Given the description of an element on the screen output the (x, y) to click on. 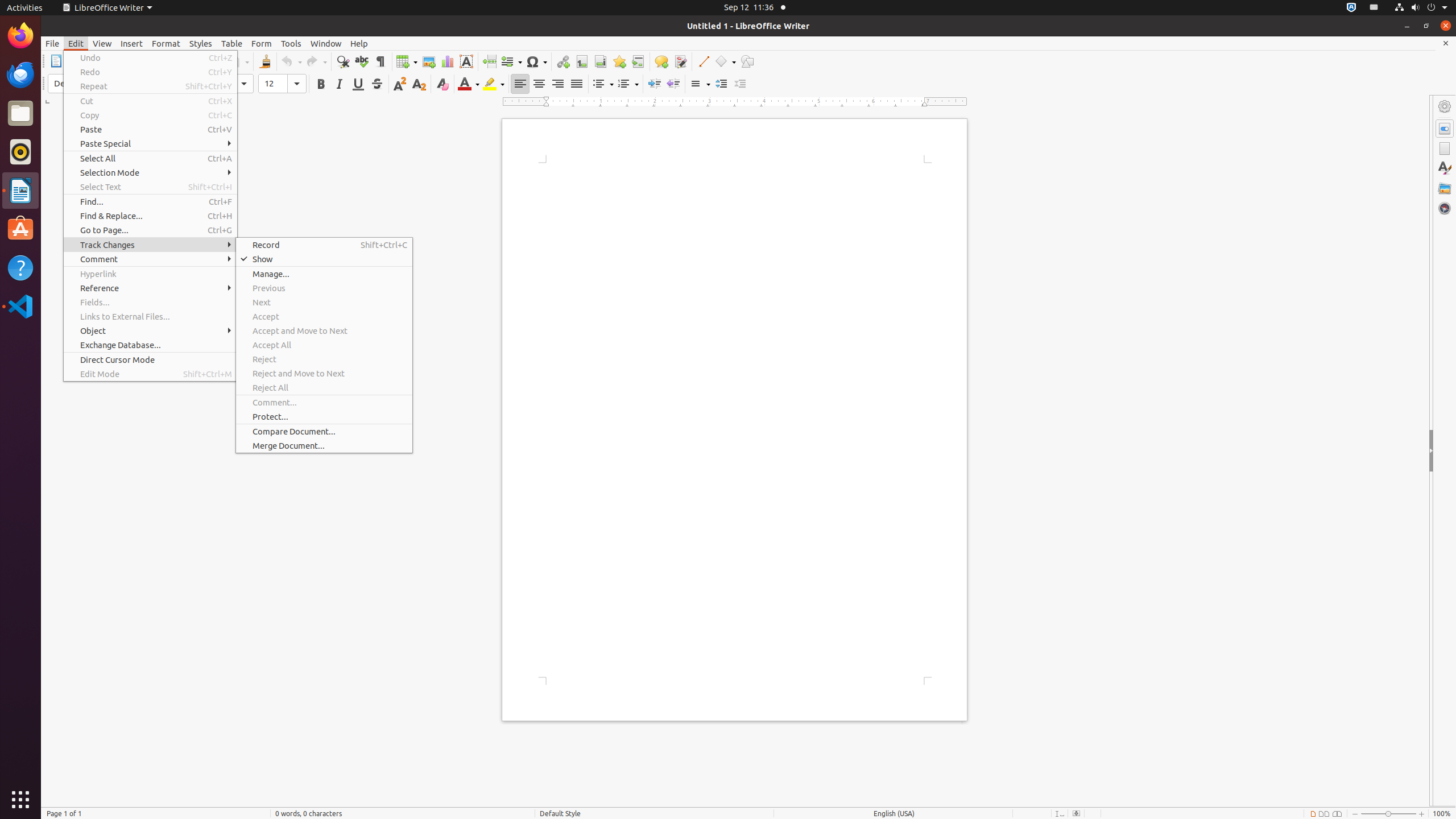
Clone Element type: push-button (264, 61)
Formatting Marks Element type: toggle-button (379, 61)
:1.72/StatusNotifierItem Element type: menu (1350, 7)
Styles Element type: radio-button (1444, 168)
Image Element type: push-button (428, 61)
